Given the description of an element on the screen output the (x, y) to click on. 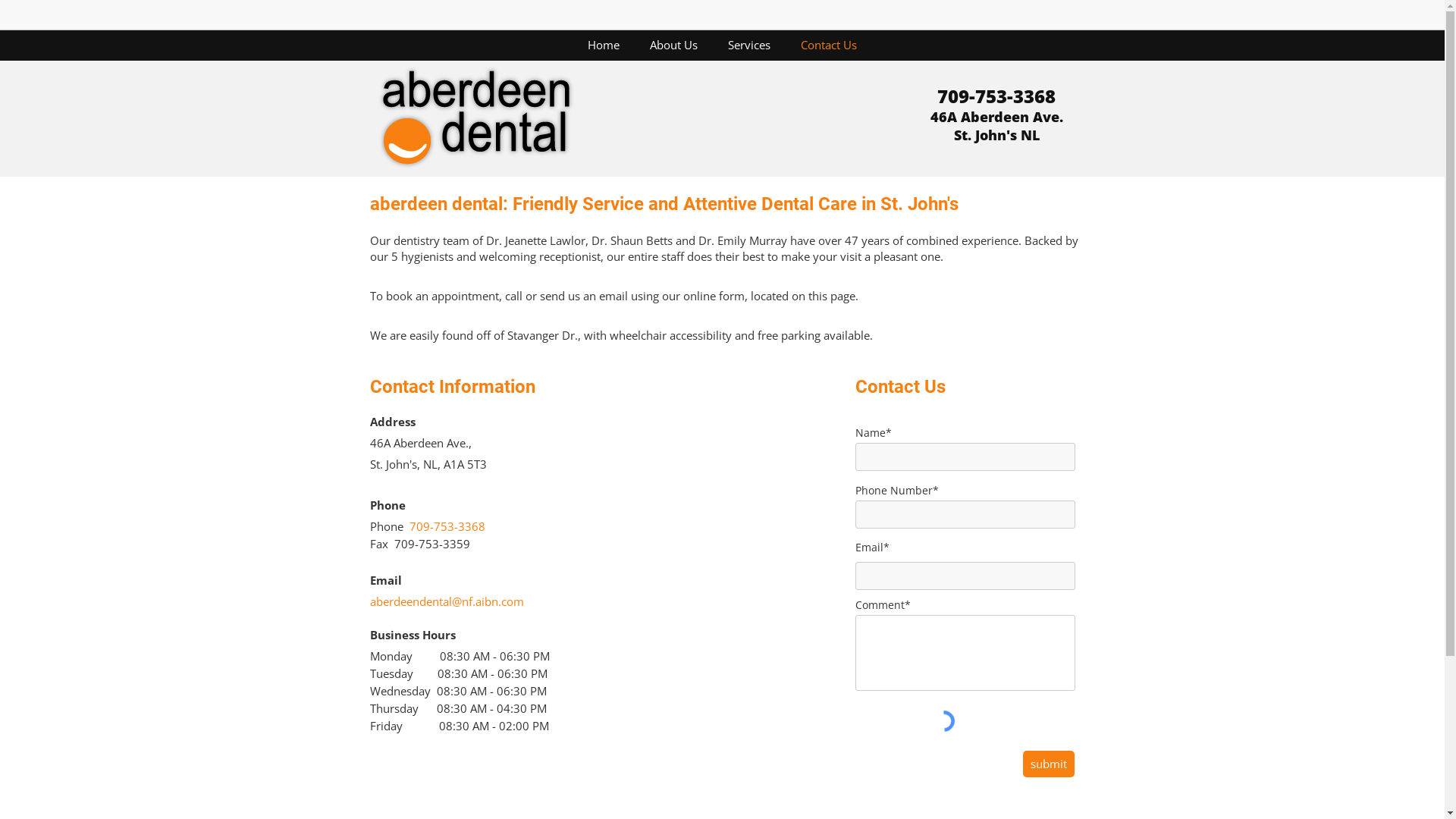
709-753-3368 Element type: text (447, 528)
About Us Element type: text (672, 44)
submit Element type: text (1047, 763)
Contact Us Element type: text (828, 44)
Home Element type: text (602, 44)
aberdeendental@nf.aibn.com Element type: text (447, 603)
709-753-3368 Element type: text (996, 96)
Embedded Content Element type: hover (1069, 19)
Embedded Content Element type: hover (938, 15)
Services Element type: text (748, 44)
